Given the description of an element on the screen output the (x, y) to click on. 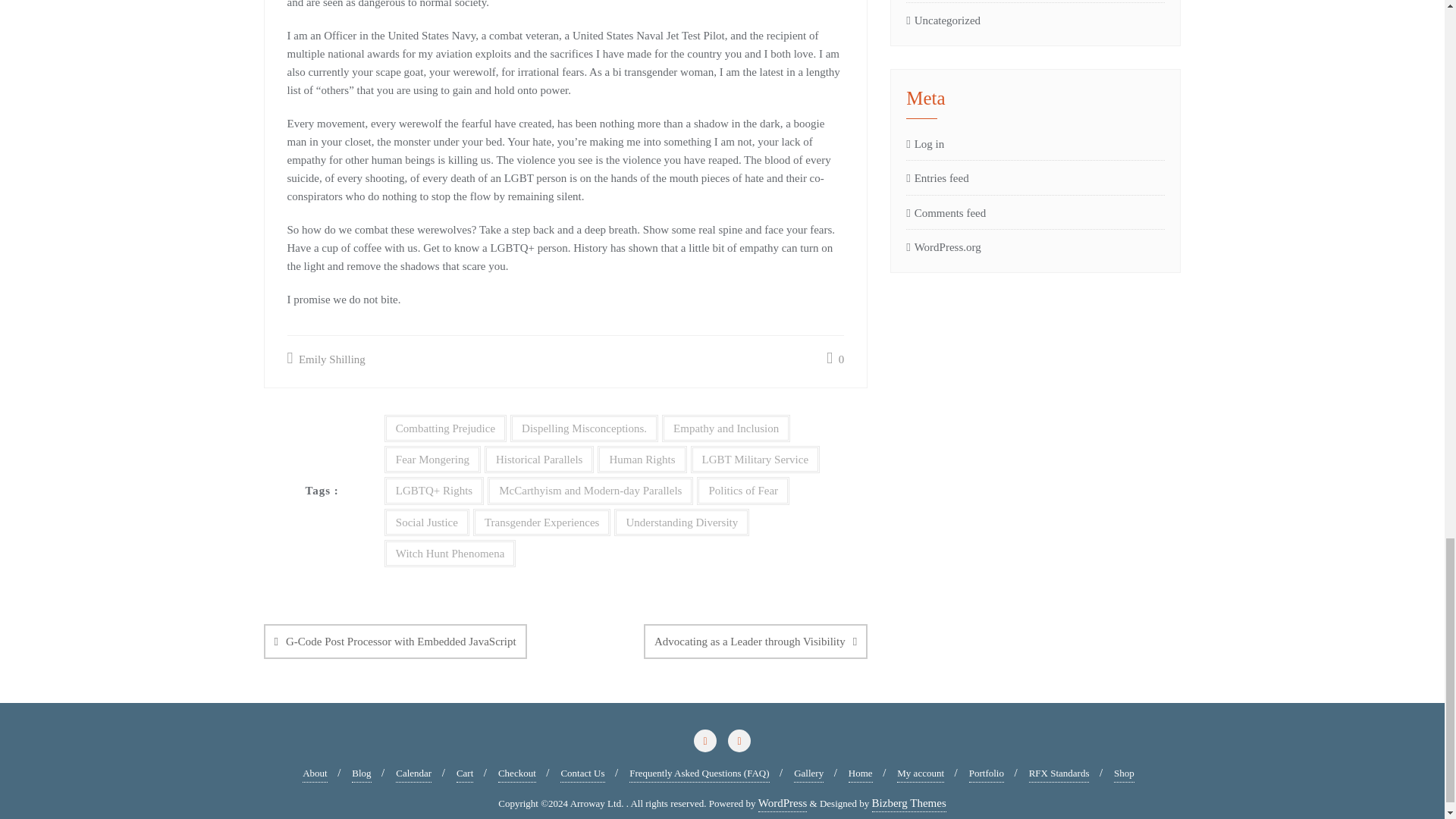
Combatting Prejudice (445, 428)
Politics of Fear (743, 490)
Empathy and Inclusion (726, 428)
Social Justice (426, 522)
Dispelling Misconceptions. (584, 428)
Advocating as a Leader through Visibility (755, 641)
Historical Parallels (539, 459)
Understanding Diversity (681, 522)
LGBT Military Service (755, 459)
Fear Mongering (432, 459)
G-Code Post Processor with Embedded JavaScript (395, 641)
Witch Hunt Phenomena (450, 553)
Transgender Experiences (541, 522)
Emily Shilling (325, 359)
Human Rights (640, 459)
